Given the description of an element on the screen output the (x, y) to click on. 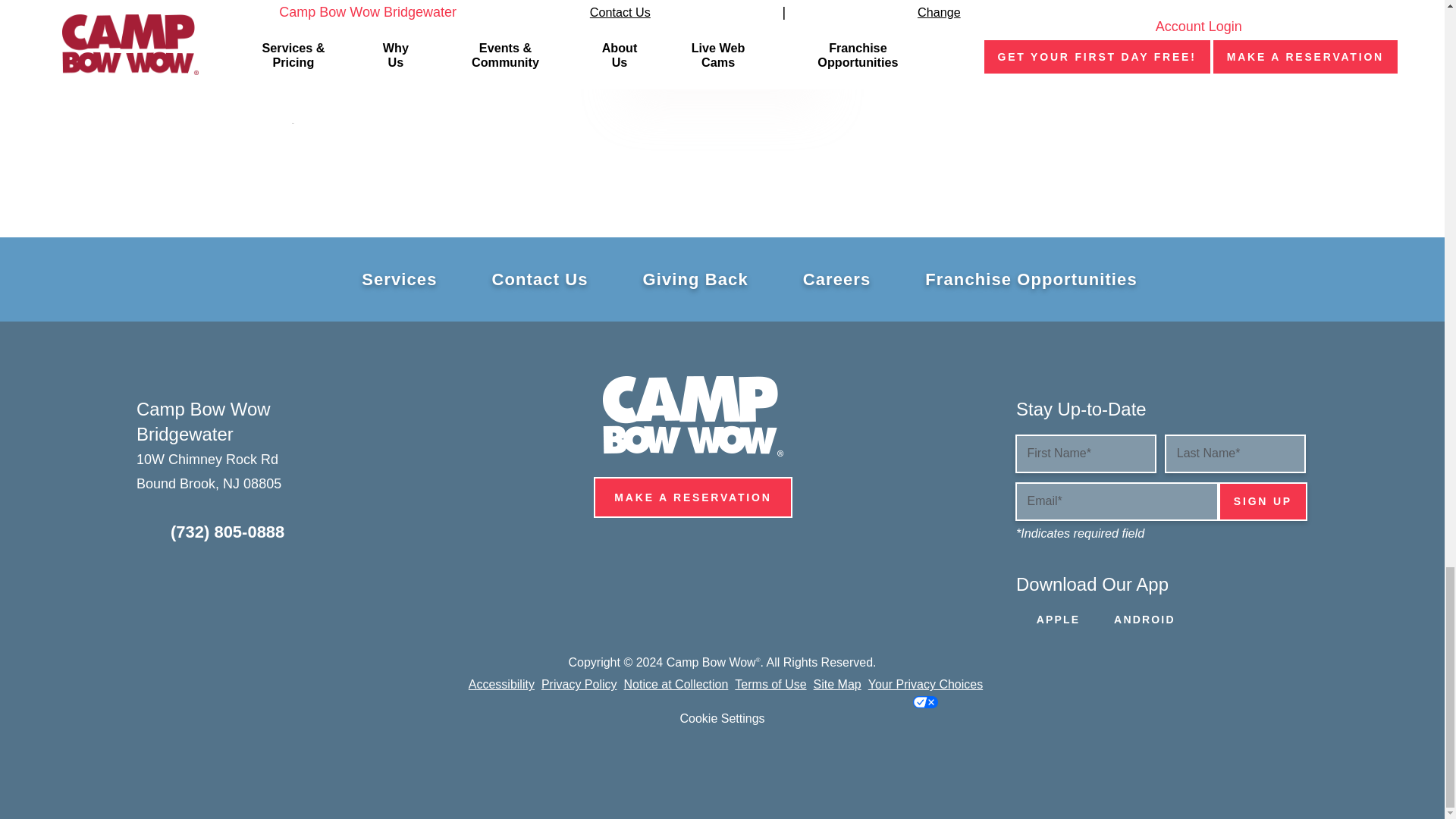
Please enter your email address. (1116, 501)
Click here to make a reservation. (693, 496)
Please enter your first name. (1085, 453)
Click here to make a reservation. (722, 44)
Camp Bow Wow (692, 415)
Please enter your last name. (1235, 453)
